Given the description of an element on the screen output the (x, y) to click on. 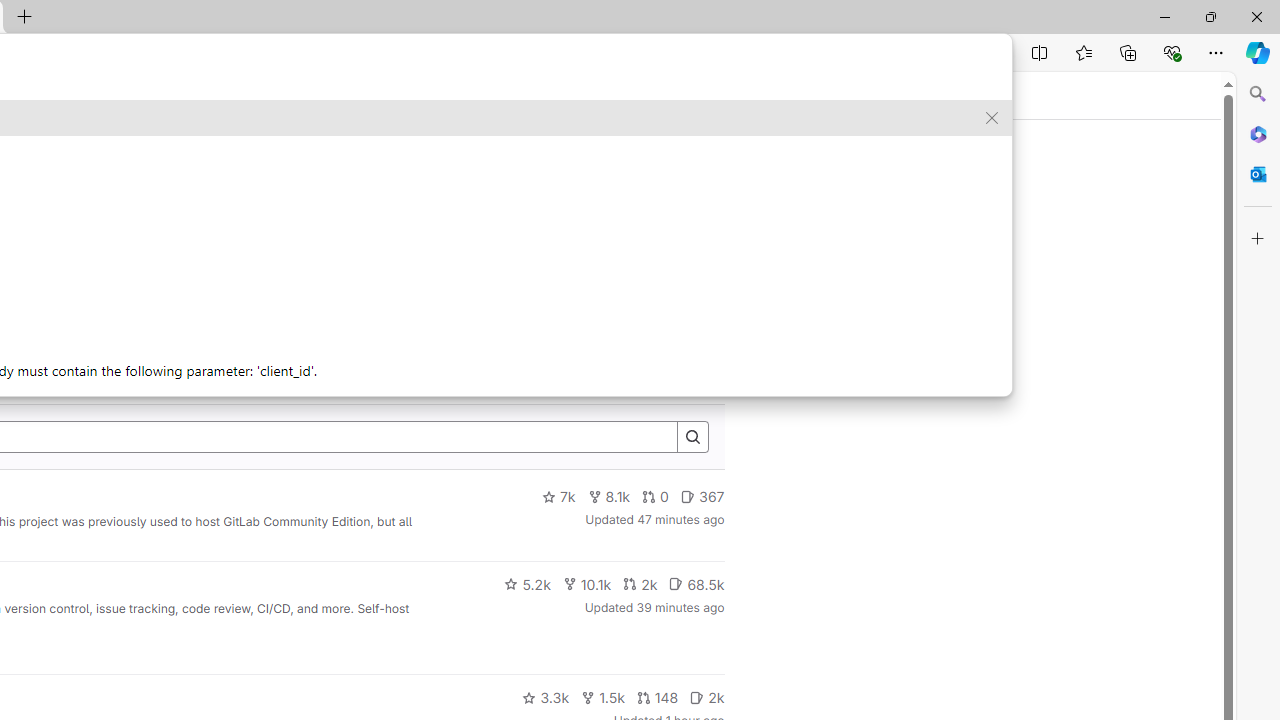
367 (701, 497)
New project (671, 326)
Class: s16 gl-icon gl-button-icon  (703, 164)
0 (655, 497)
Class: s14 gl-mr-2 (697, 696)
148 (657, 697)
Remove suggestion (991, 117)
10.1k (586, 583)
